Given the description of an element on the screen output the (x, y) to click on. 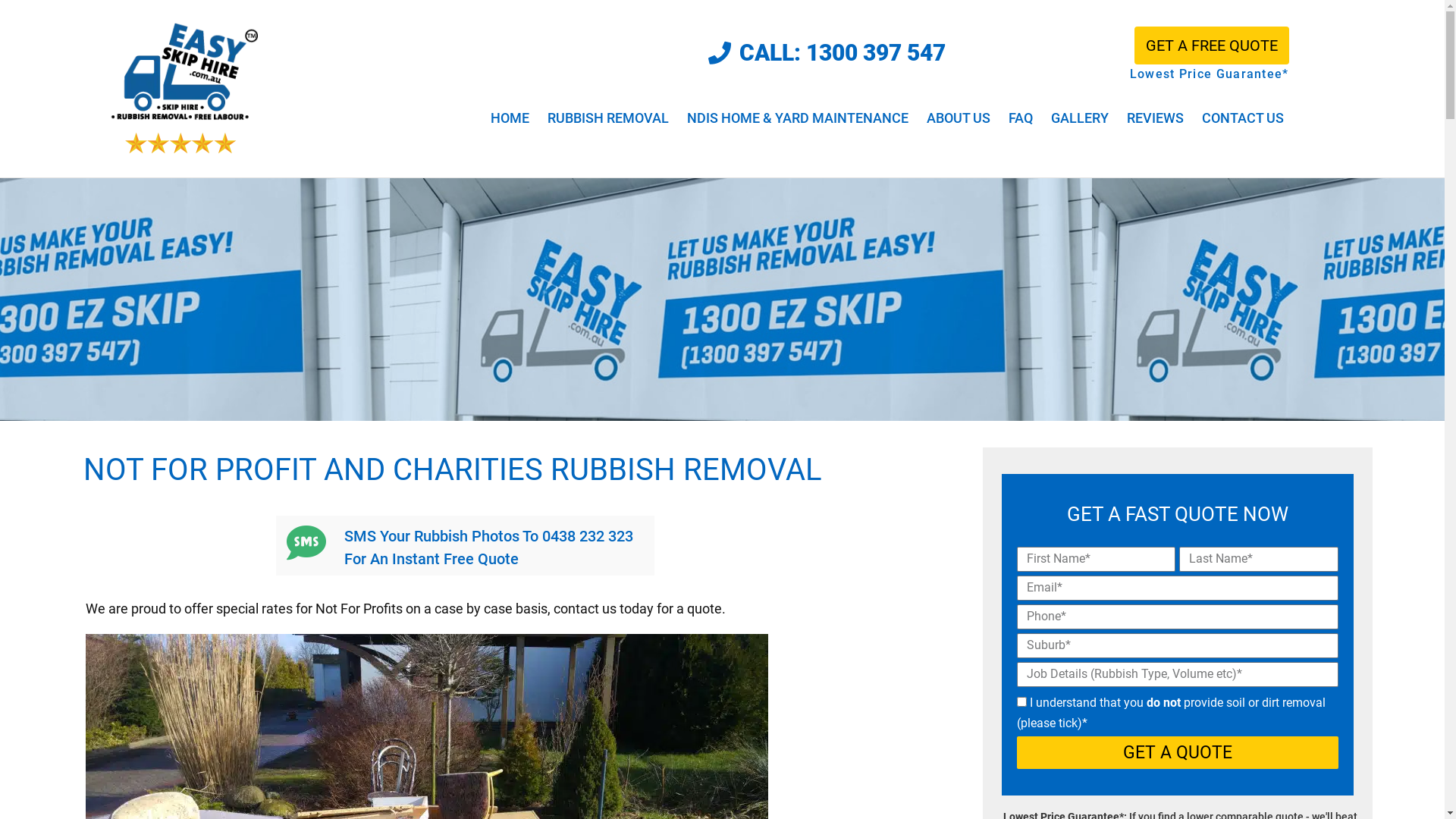
GET A FREE QUOTE Element type: text (1211, 45)
HOME Element type: text (509, 118)
CONTACT US Element type: text (1242, 118)
ABOUT US Element type: text (958, 118)
FAQ Element type: text (1020, 118)
NDIS HOME & YARD MAINTENANCE Element type: text (797, 118)
CALL: 1300 397 547 Element type: text (826, 53)
RUBBISH REMOVAL Element type: text (608, 118)
GALLERY Element type: text (1079, 118)
Easy Skip Hire 5 Star Reviews Element type: hover (179, 142)
GET A QUOTE Element type: text (1176, 752)
REVIEWS Element type: text (1155, 118)
